Given the description of an element on the screen output the (x, y) to click on. 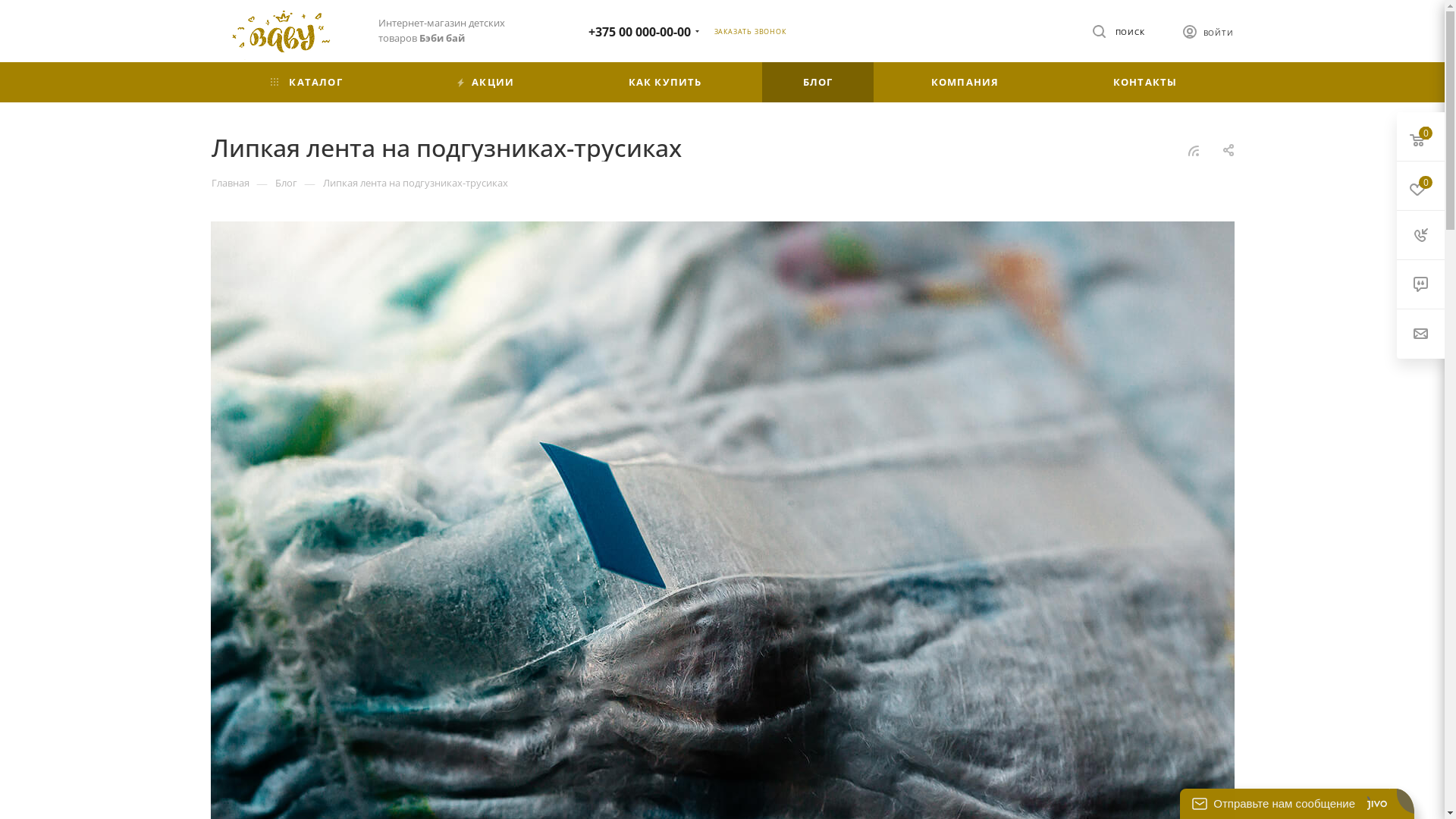
baby.by Element type: hover (282, 32)
RSS Element type: hover (1193, 149)
+375 00 000-00-00 Element type: text (639, 30)
